Given the description of an element on the screen output the (x, y) to click on. 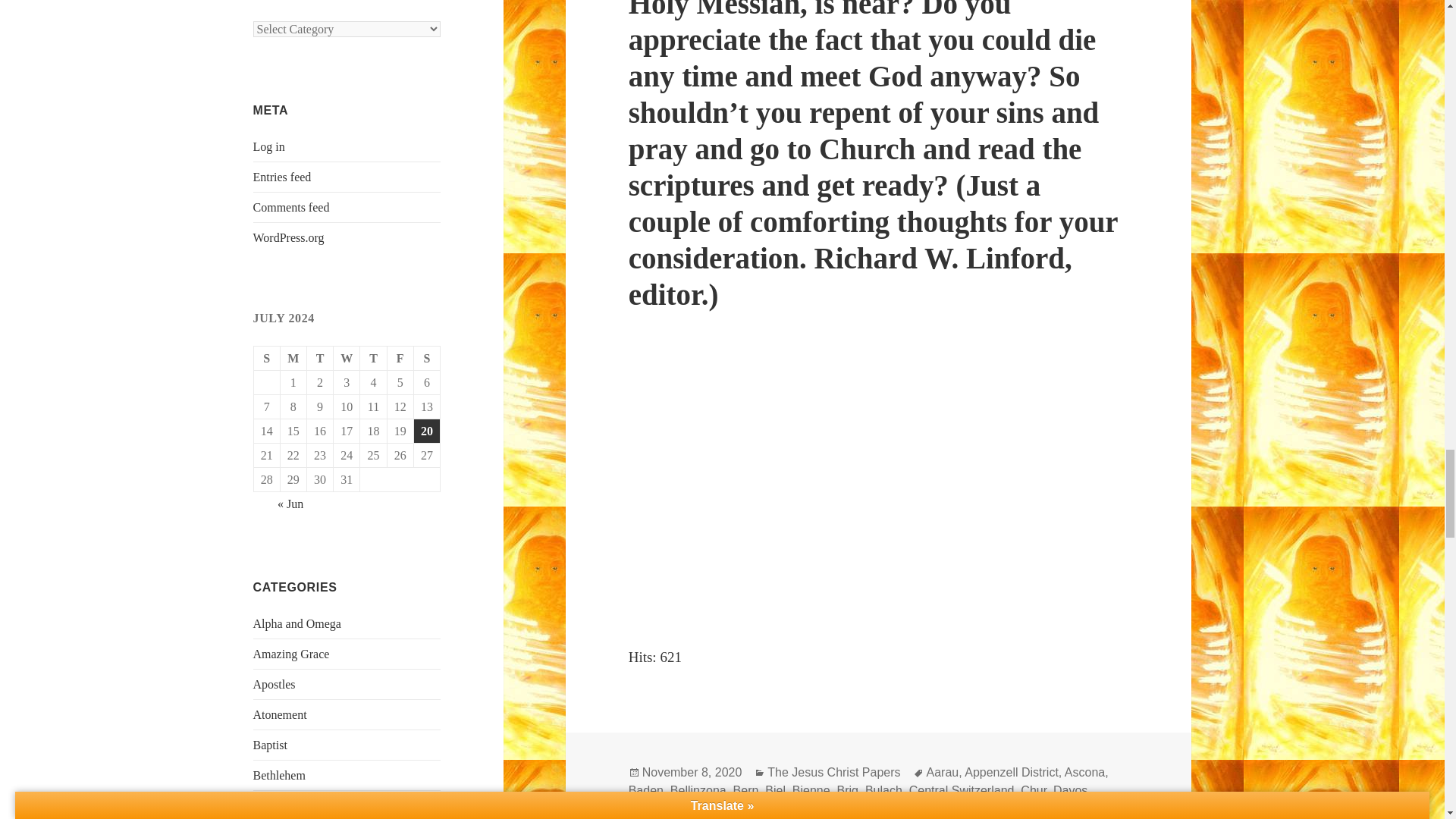
Amazing Grace (291, 653)
Friday (400, 358)
Monday (294, 358)
Thursday (373, 358)
Saturday (427, 358)
Sunday (267, 358)
Baptist (269, 744)
Tuesday (320, 358)
20 (426, 431)
Comments feed (291, 206)
Atonement (280, 714)
Apostles (274, 684)
Log in (269, 146)
Wednesday (346, 358)
